Given the description of an element on the screen output the (x, y) to click on. 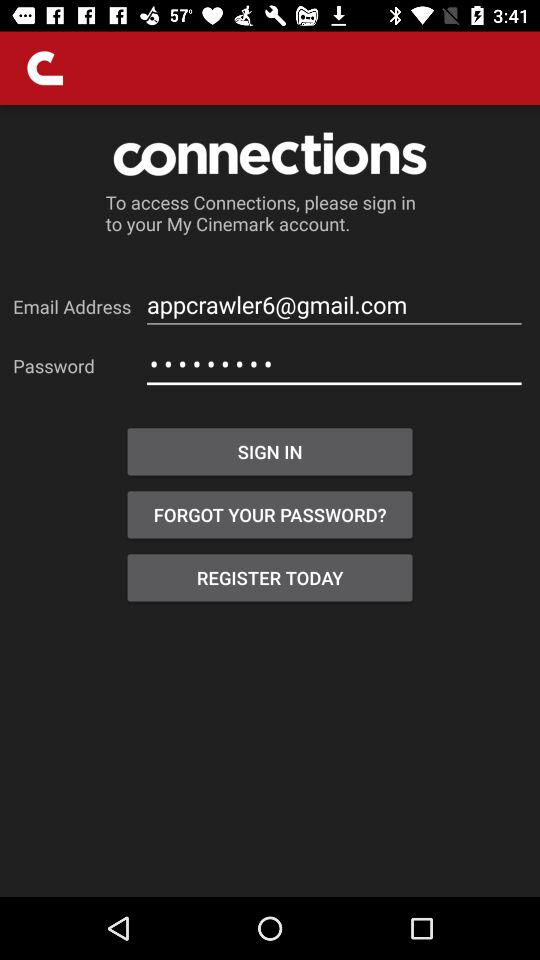
press the appcrawler6@gmail.com icon (333, 304)
